Given the description of an element on the screen output the (x, y) to click on. 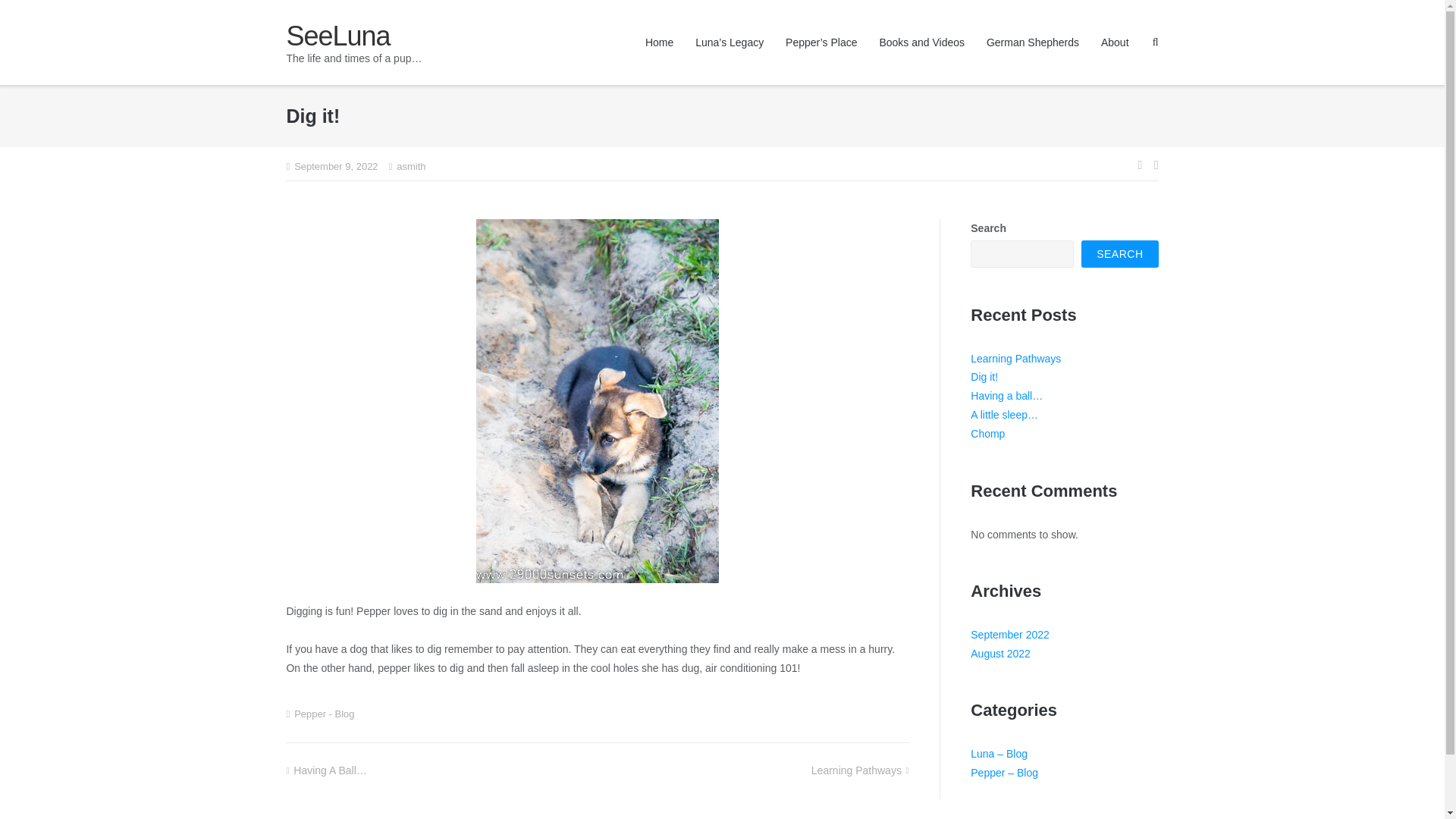
Chomp (987, 433)
Books and Videos (921, 42)
German Shepherds (1032, 42)
Dig it! (984, 377)
Pepper - Blog (323, 713)
Learning Pathways (1016, 357)
September 2022 (1010, 634)
SeeLuna (353, 36)
August 2022 (1000, 653)
Learning Pathways (859, 770)
